Given the description of an element on the screen output the (x, y) to click on. 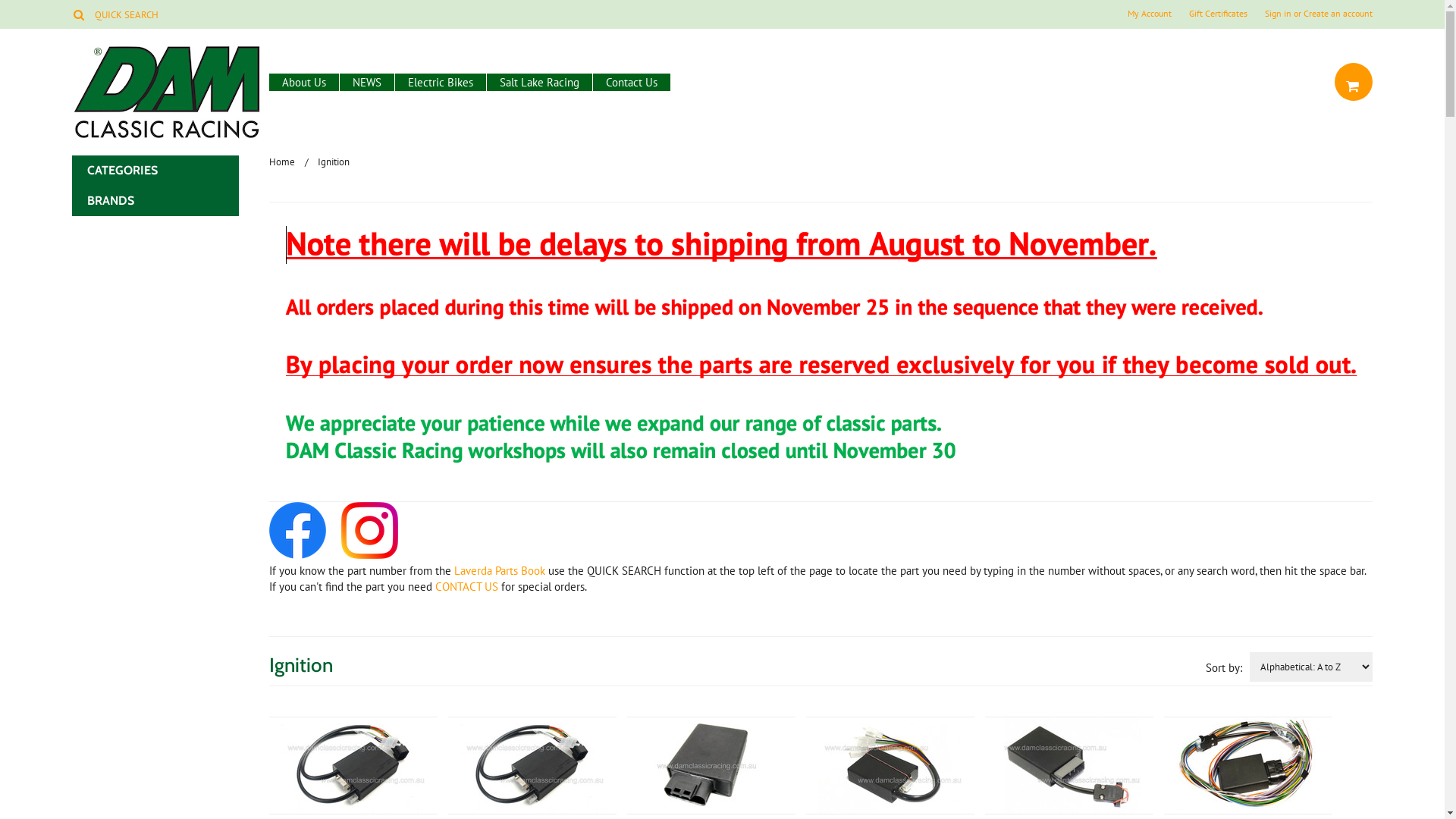
  Element type: text (1353, 81)
Contact Us Element type: text (631, 81)
View Cart Element type: hover (1353, 81)
Electric Bikes Element type: text (440, 81)
About Us Element type: text (303, 81)
NEWS Element type: text (366, 81)
View Cart Element type: hover (1352, 84)
Sign in Element type: text (1277, 13)
Create an account Element type: text (1337, 13)
Salt Lake Racing Element type: text (539, 81)
Laverda Parts Book Element type: text (499, 570)
CONTACT US Element type: text (466, 586)
Search Element type: hover (78, 14)
My Account Element type: text (1149, 13)
Home Element type: text (288, 161)
Gift Certificates Element type: text (1218, 13)
delays-to-shipping.jpg Element type: hover (820, 348)
